Given the description of an element on the screen output the (x, y) to click on. 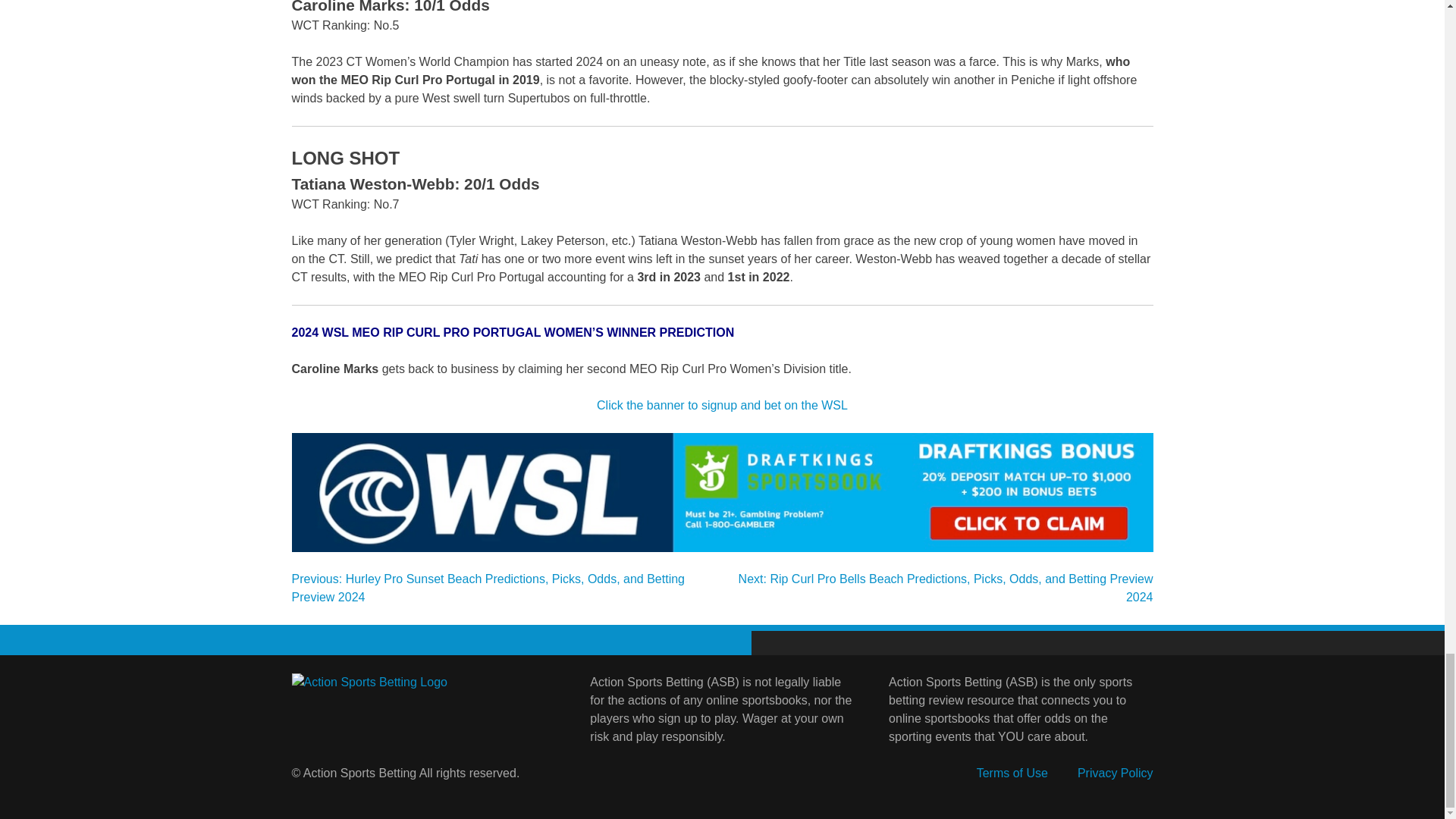
Click the banner to signup and bet on the WSL (721, 404)
Privacy Policy (1115, 772)
Terms of Use (1012, 772)
